Given the description of an element on the screen output the (x, y) to click on. 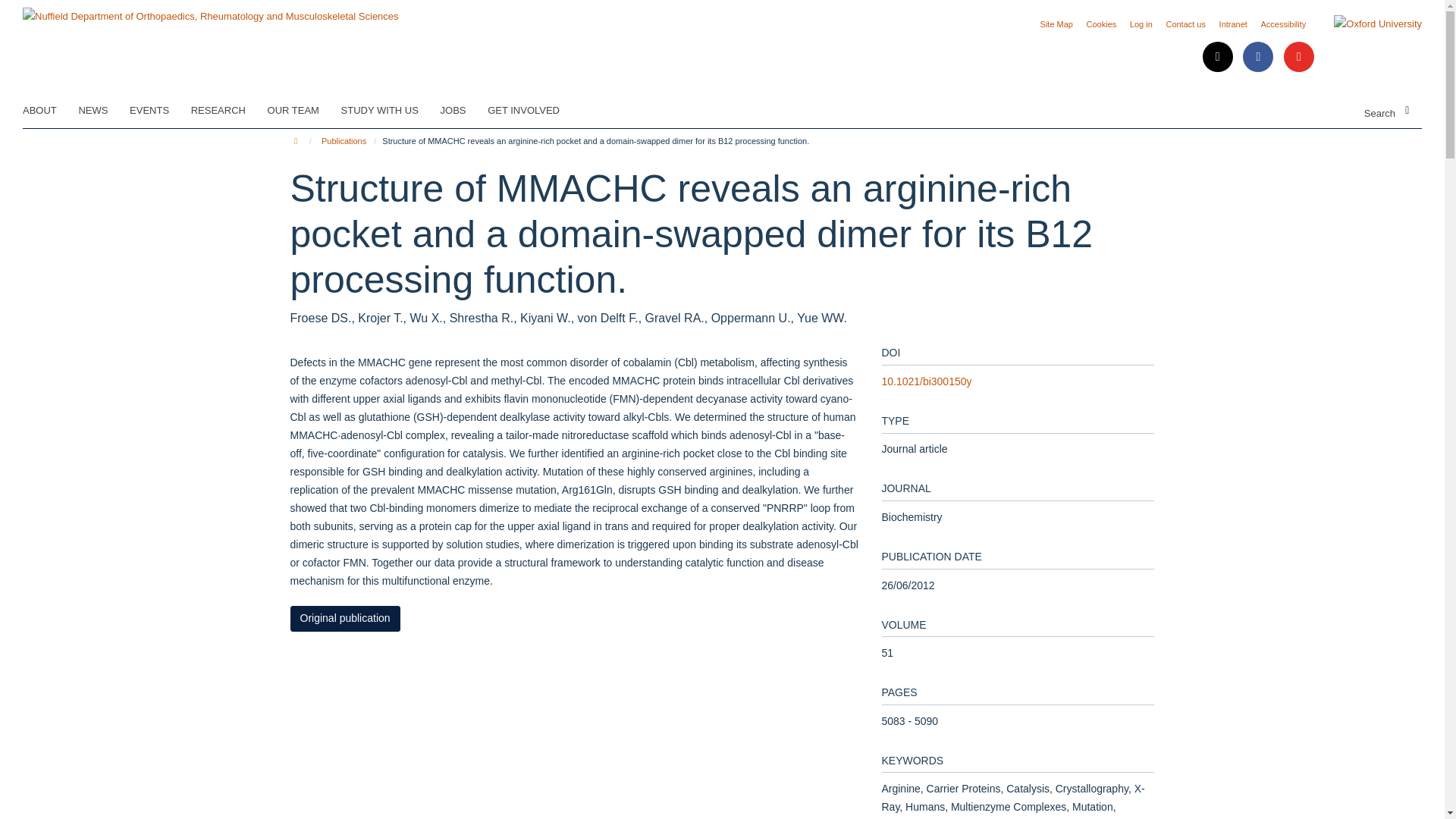
EVENTS (158, 110)
Follow us on Twitter (1219, 57)
Intranet (1233, 23)
Original publication (343, 618)
NEWS (102, 110)
Accessibility (1283, 23)
JOBS (462, 110)
STUDY WITH US (389, 110)
Follow us on Facebook (1259, 57)
GET INVOLVED (532, 110)
